Given the description of an element on the screen output the (x, y) to click on. 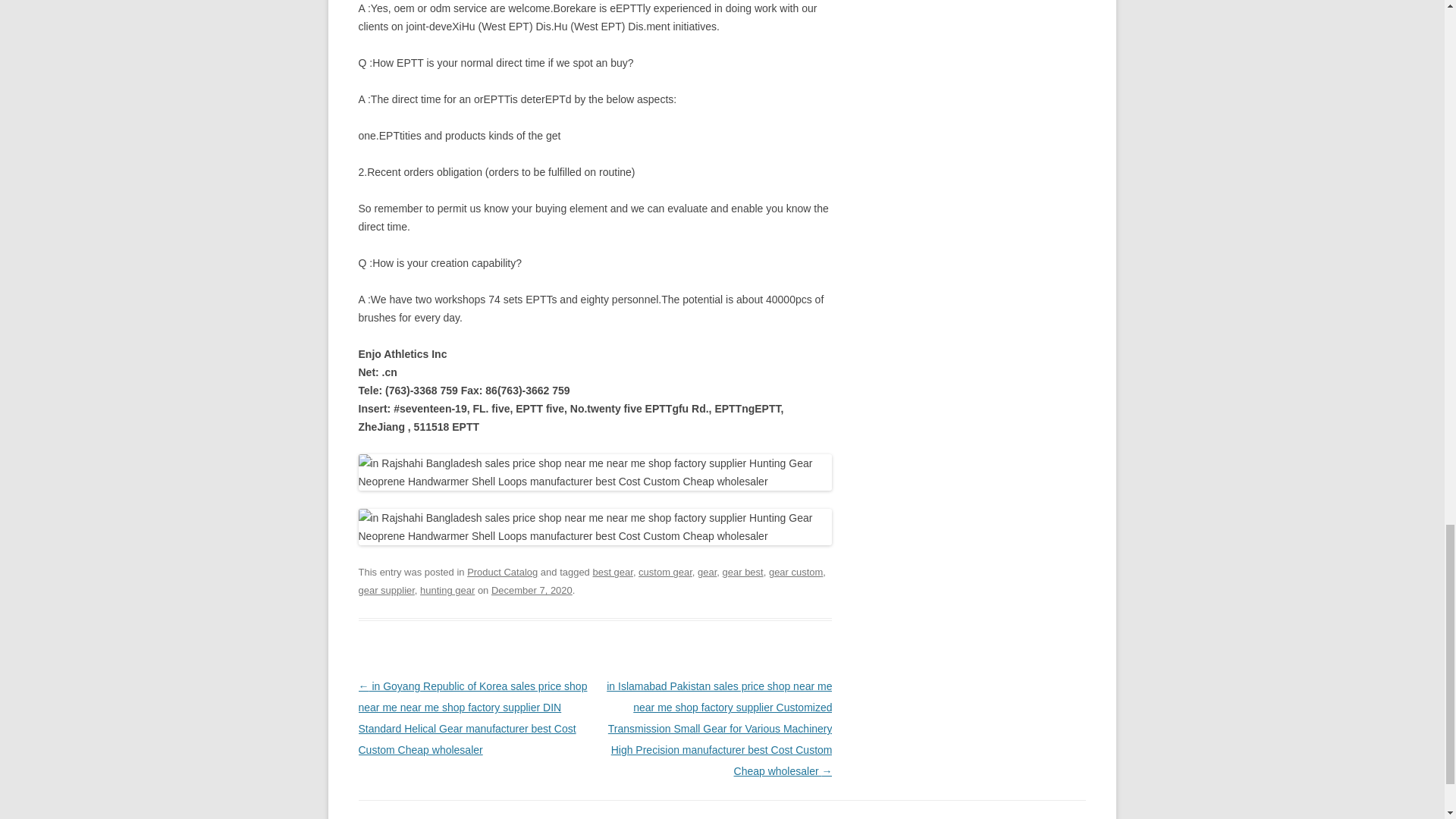
gear custom (795, 572)
gear supplier (385, 590)
gear (706, 572)
2:50 pm (532, 590)
custom gear (666, 572)
hunting gear (447, 590)
Product Catalog (502, 572)
December 7, 2020 (532, 590)
best gear (611, 572)
gear best (742, 572)
